Given the description of an element on the screen output the (x, y) to click on. 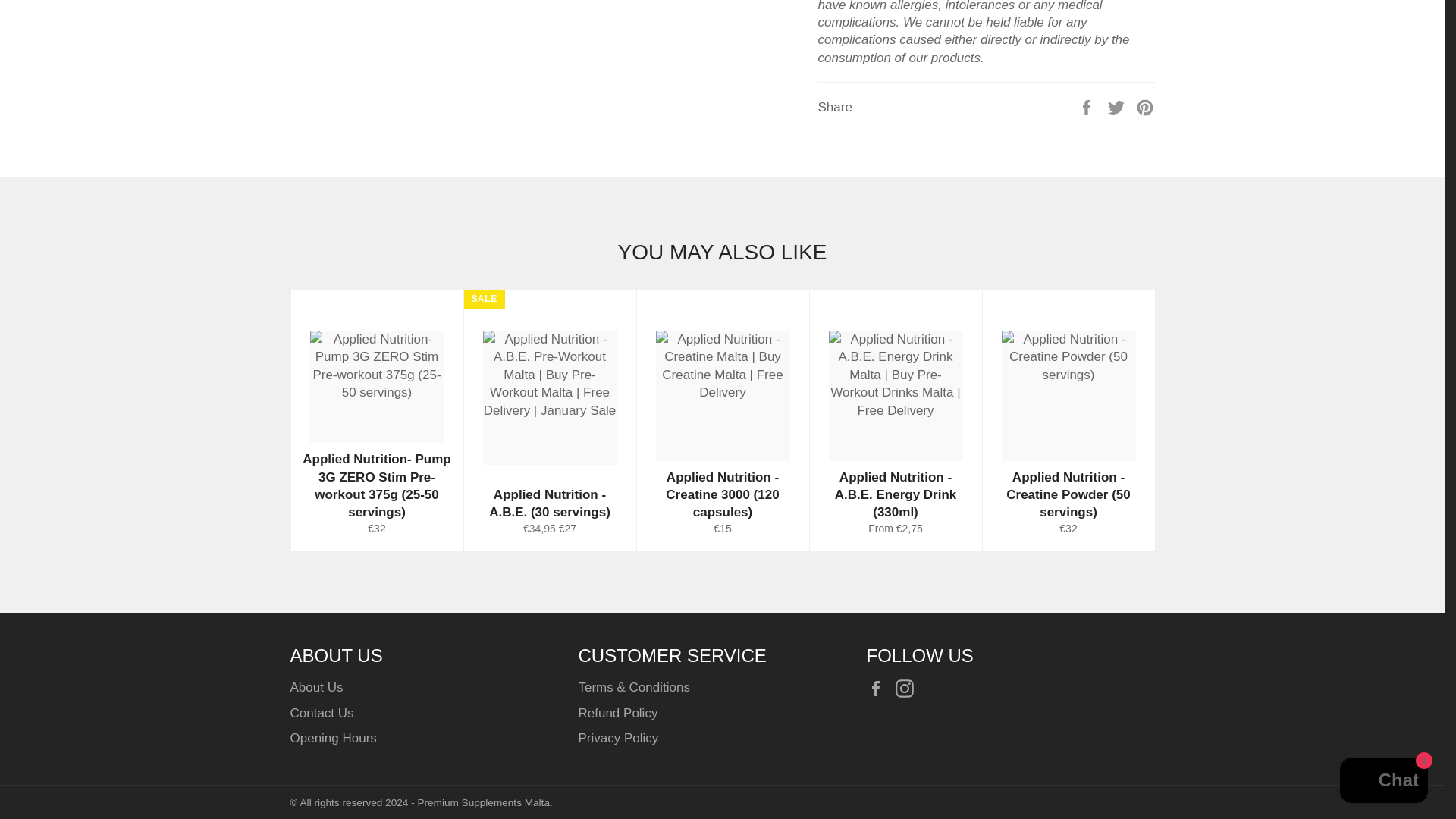
Share on Facebook (1088, 106)
Pin on Pinterest (1144, 106)
Premium Supplements Malta on Instagram (908, 687)
Tweet on Twitter (1117, 106)
Premium Supplements Malta on Facebook (878, 687)
